Given the description of an element on the screen output the (x, y) to click on. 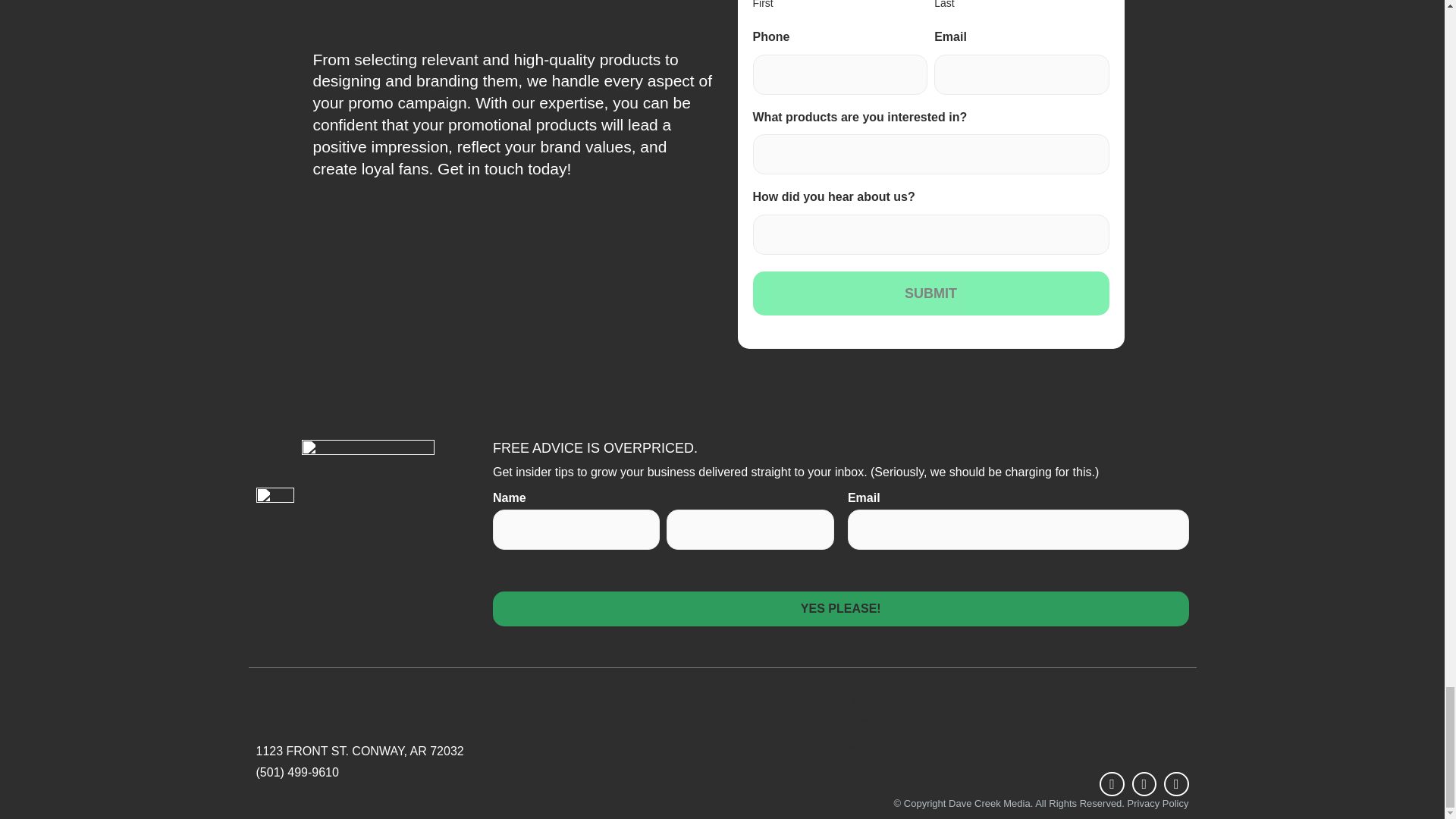
Locations (864, 745)
Submit (930, 293)
Yes Please! (841, 608)
1123 FRONT ST. CONWAY, AR 72032 (390, 751)
Instagram (1144, 784)
Linkedin (1175, 784)
Blog (864, 701)
Yes Please! (841, 608)
Careers (864, 723)
Submit (930, 293)
